Given the description of an element on the screen output the (x, y) to click on. 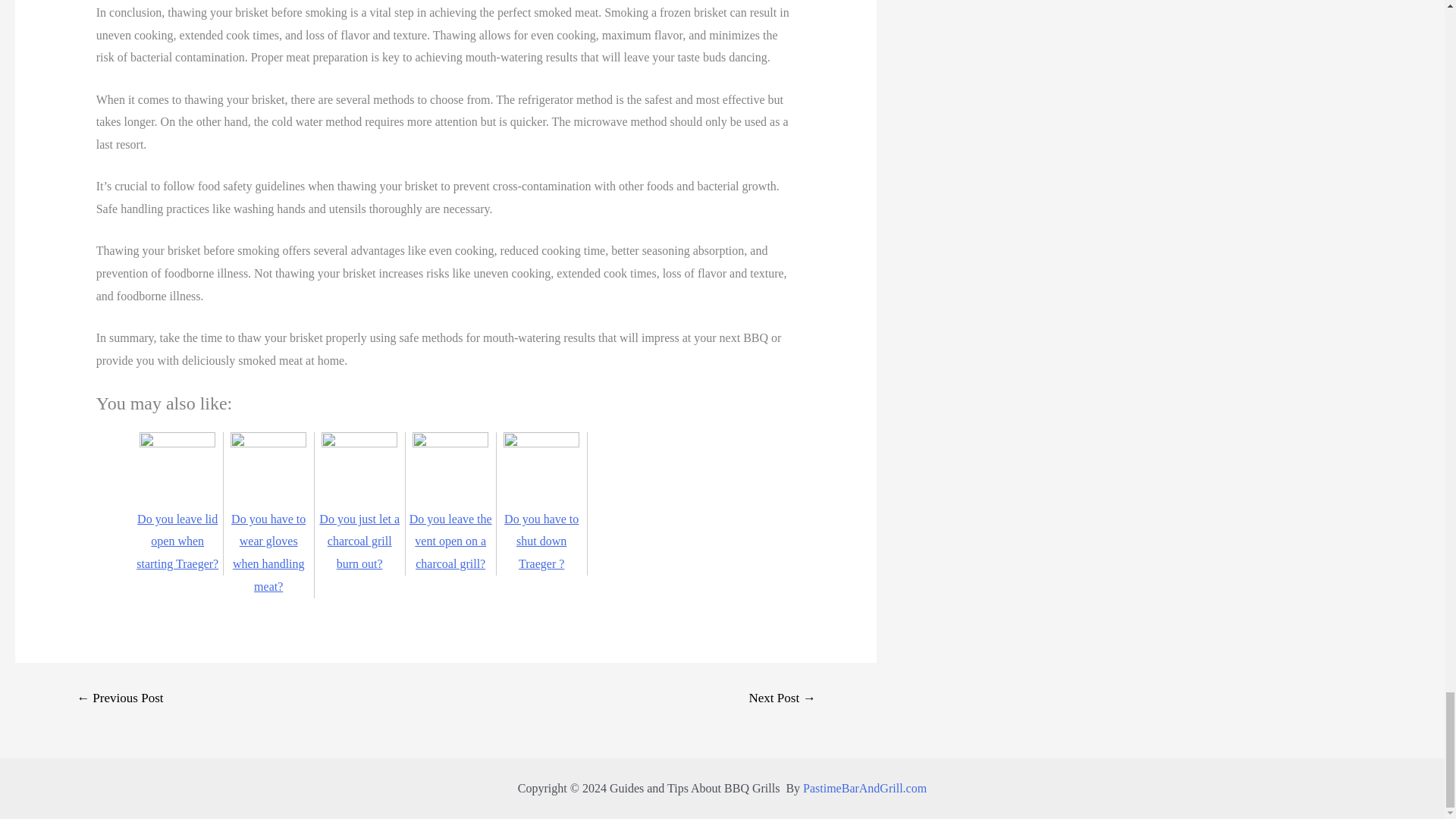
Do you leave lid open when starting Traeger? (177, 515)
Do you just let a charcoal grill burn out? (358, 515)
Do you leave the vent open on a charcoal grill? (450, 515)
Do you have to wear gloves when handling meat? (267, 526)
Do you have to shut down Traeger ? (541, 515)
